Given the description of an element on the screen output the (x, y) to click on. 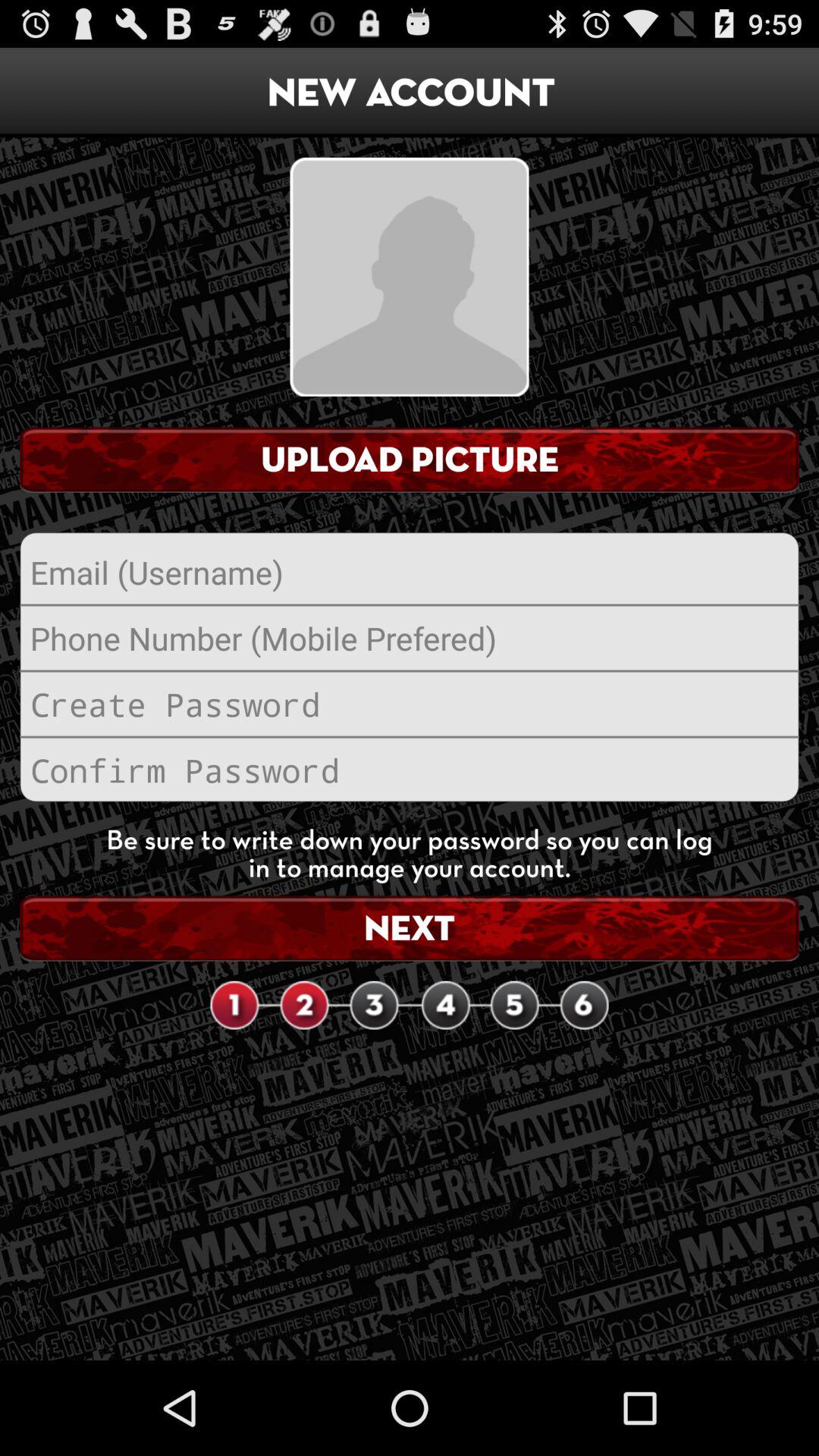
flip to the next icon (409, 928)
